Given the description of an element on the screen output the (x, y) to click on. 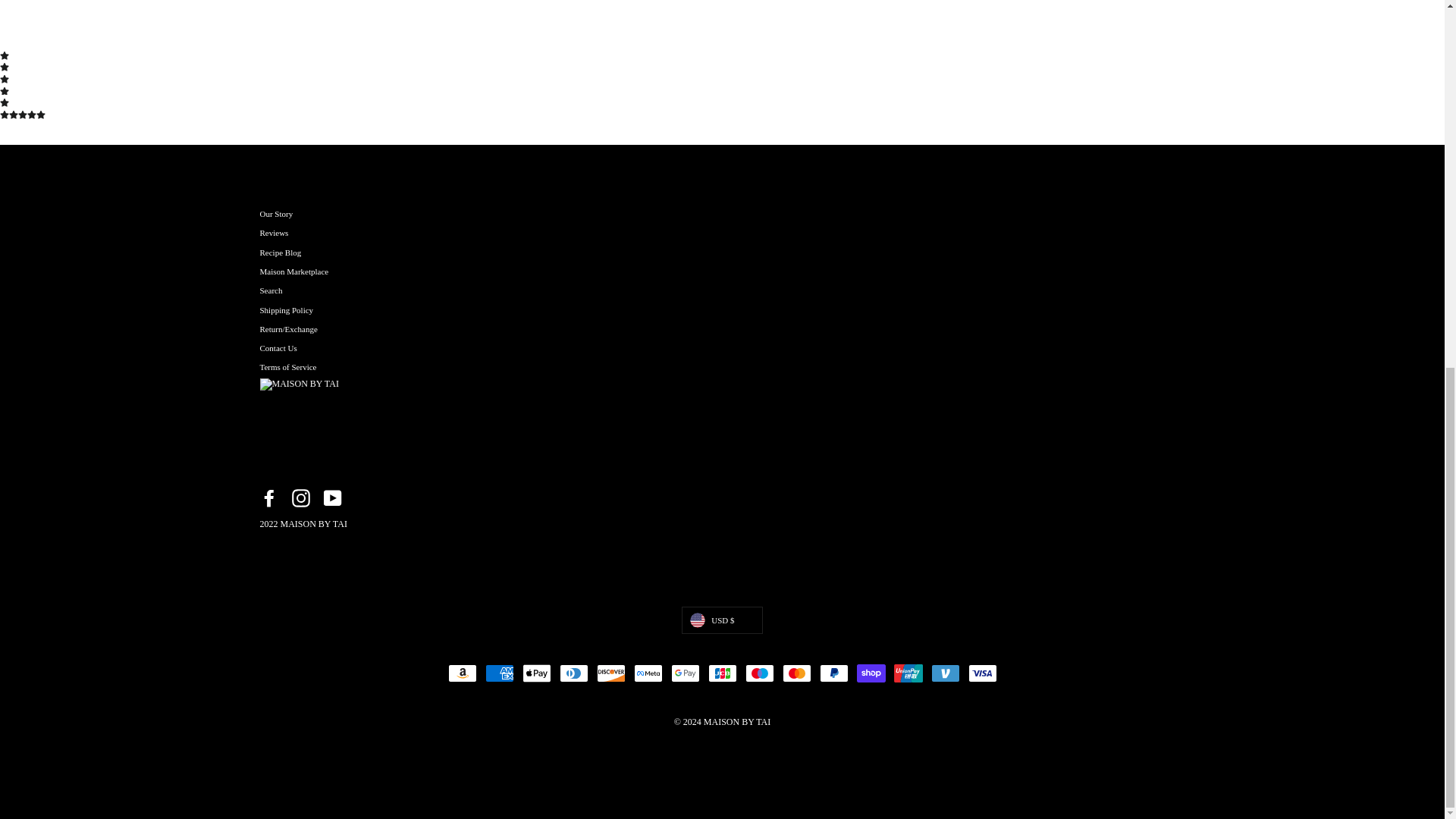
MAISON BY TAI on YouTube (331, 497)
MAISON BY TAI on Instagram (299, 497)
MAISON BY TAI on Facebook (268, 497)
